Given the description of an element on the screen output the (x, y) to click on. 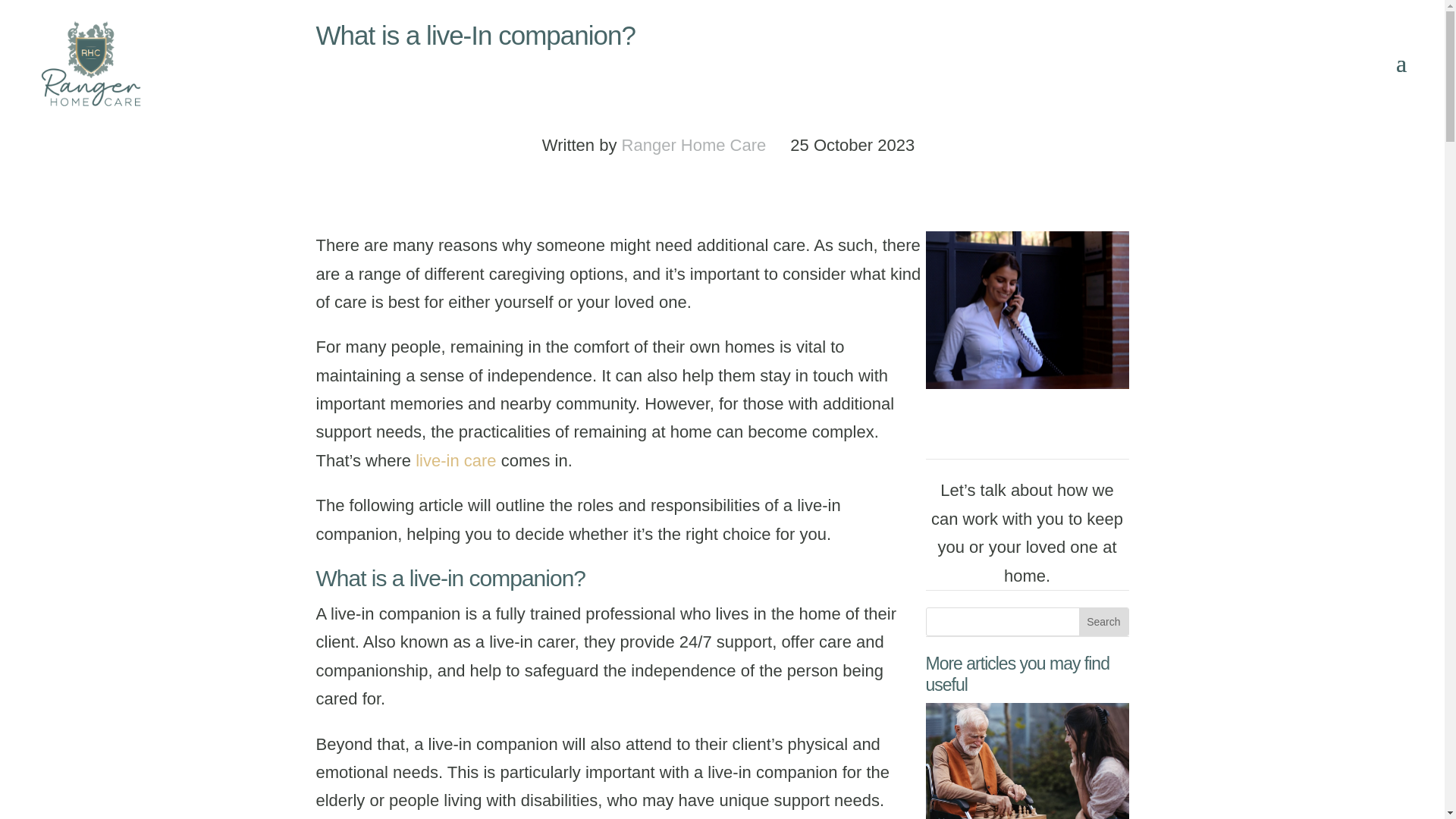
Search (1102, 621)
live-in-care-conceige (1026, 309)
live-in care (455, 460)
Search (1102, 621)
Search (1102, 621)
Ranger Home Care (694, 144)
